Given the description of an element on the screen output the (x, y) to click on. 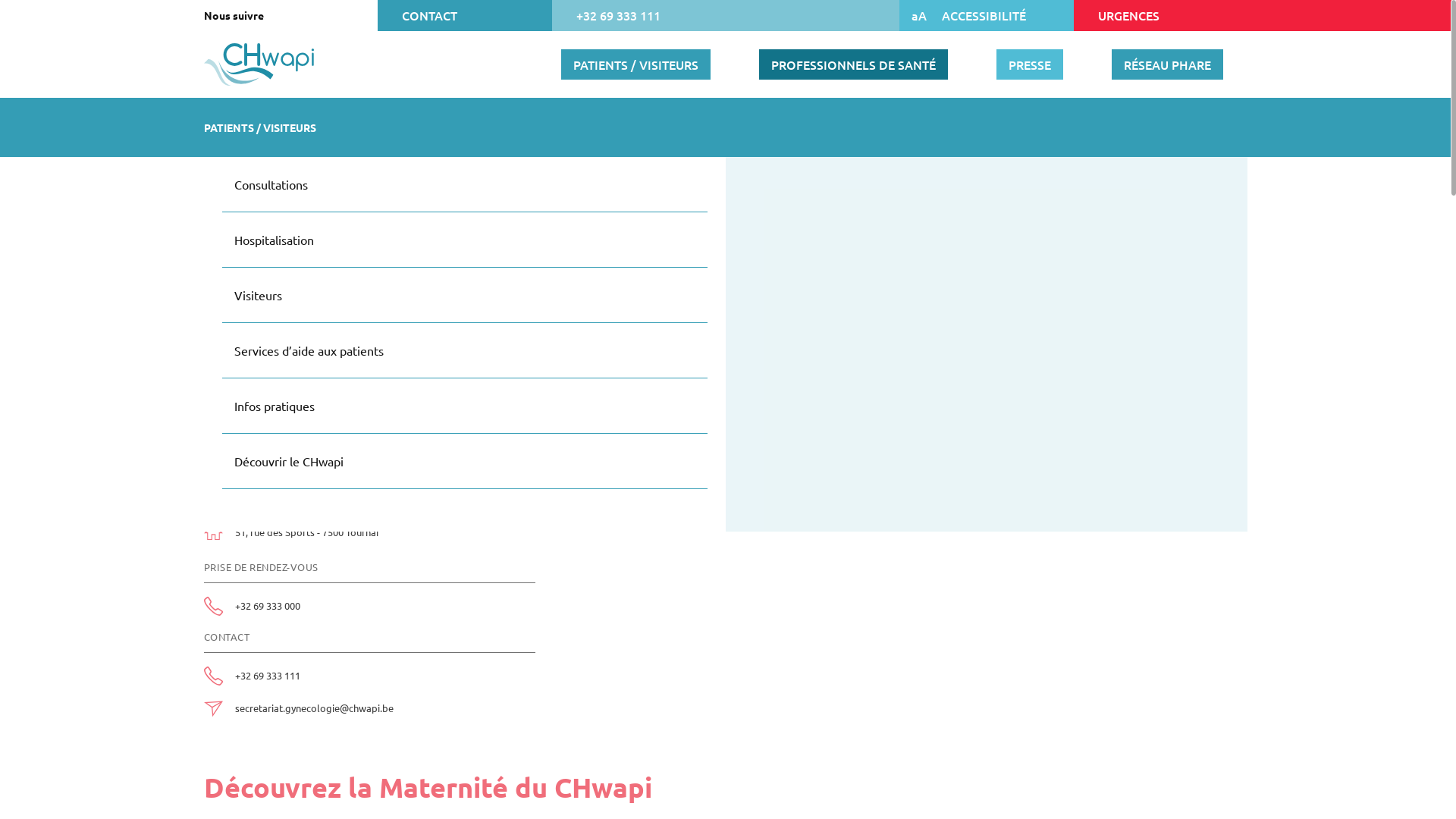
PATIENTS / VISITEURS Element type: text (635, 64)
secretariat.gynecologie@chwapi.be Element type: text (314, 708)
Patients / Visiteurs Element type: text (289, 115)
+32 69 333 000 Element type: text (267, 605)
Infos pratiques Element type: text (464, 405)
Consultations Element type: text (464, 184)
Consultations Element type: text (373, 115)
+32 69 333 111 Element type: text (267, 675)
URGENCES Element type: text (1160, 15)
Hospitalisation Element type: text (464, 239)
Accueil Element type: text (219, 115)
CONTACT Element type: text (464, 15)
PRESSE Element type: text (1029, 64)
+32 69 333 111 Element type: text (726, 15)
Visiteurs Element type: text (464, 295)
